Given the description of an element on the screen output the (x, y) to click on. 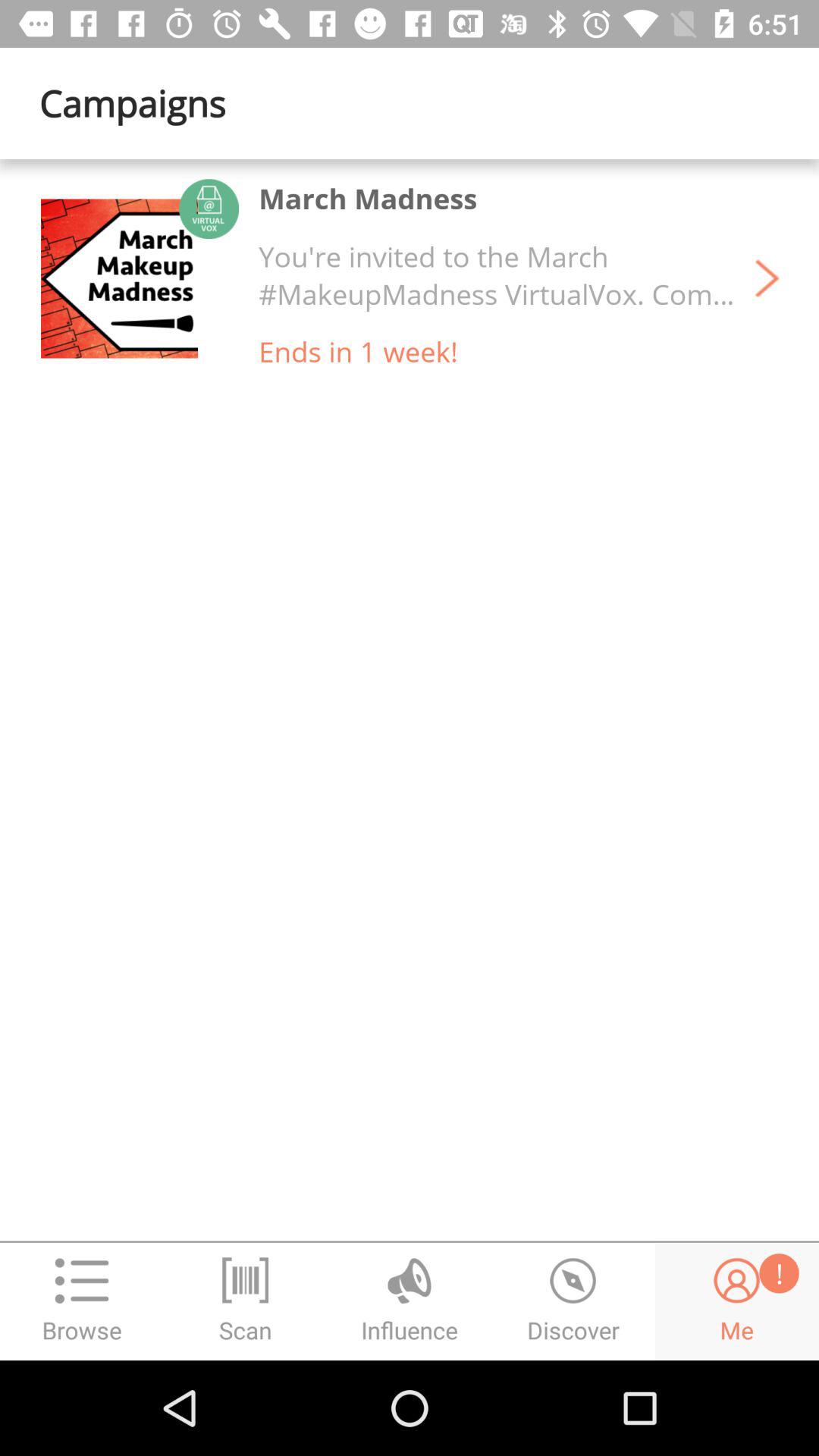
select item to the right of the you re invited icon (767, 278)
